Given the description of an element on the screen output the (x, y) to click on. 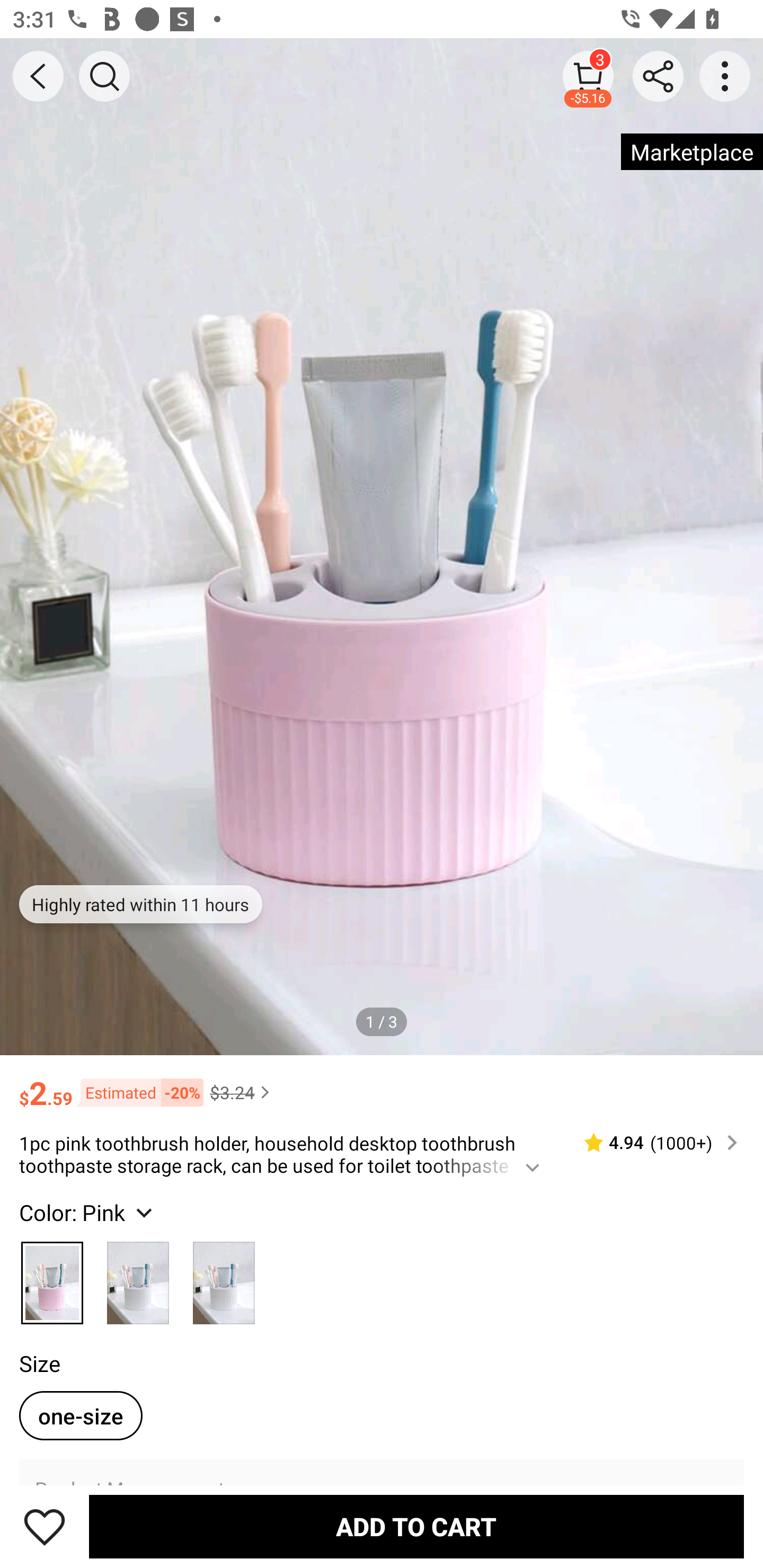
BACK (38, 75)
3 -$5.16 (588, 75)
1 / 3 (381, 1021)
$2.59 Estimated -20% $3.24 (381, 1084)
Estimated -20% (137, 1092)
$3.24 (241, 1091)
4.94 (1000‎+) (653, 1142)
Color: Pink (88, 1212)
Pink (52, 1278)
White (138, 1278)
White (224, 1278)
Size (39, 1363)
one-size one-sizeselected option (80, 1415)
ADD TO CART (416, 1526)
Save (44, 1526)
